Given the description of an element on the screen output the (x, y) to click on. 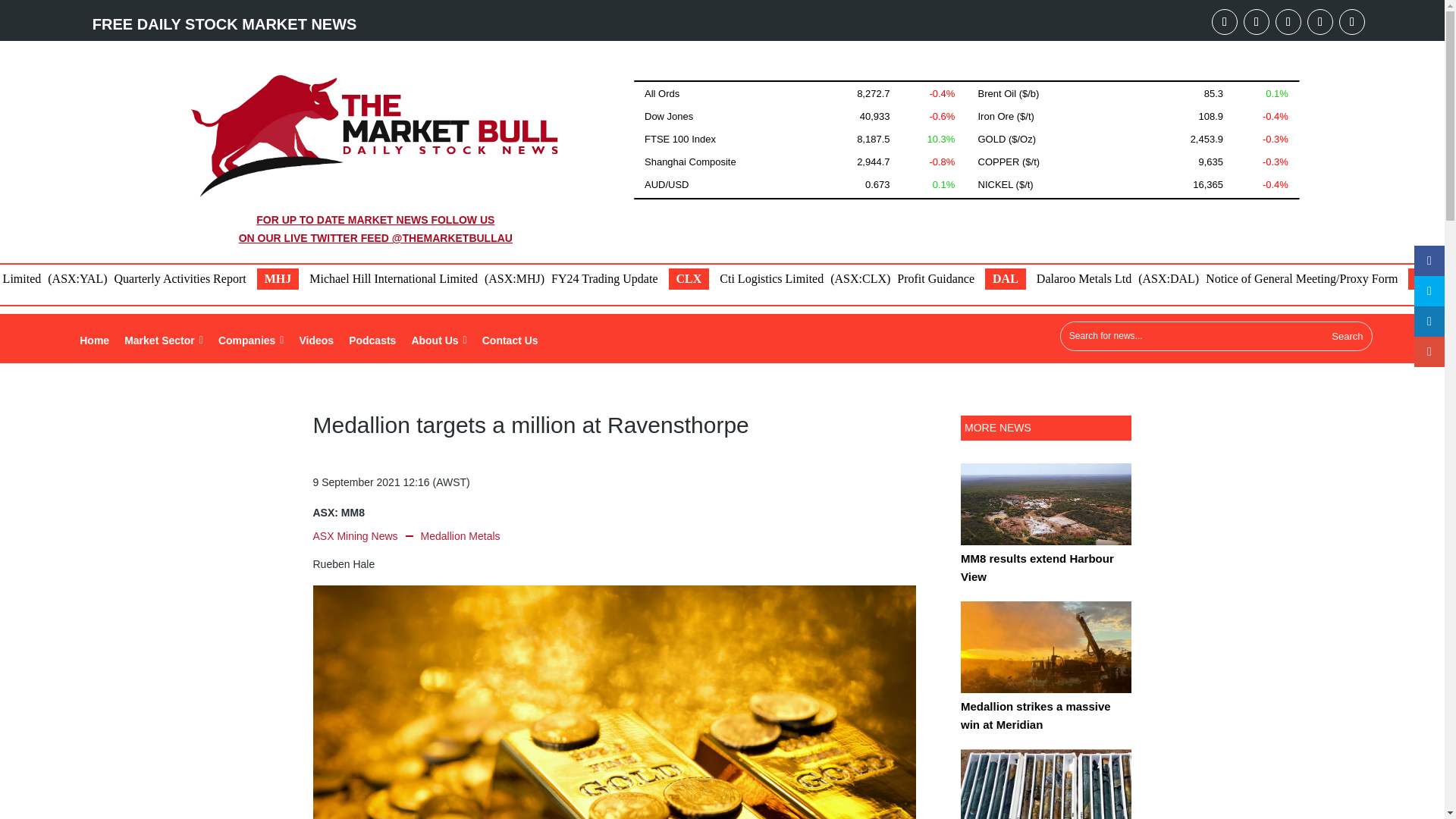
Follow on TikTok (1352, 22)
Search (1347, 336)
Search (1347, 336)
Follow on X (1288, 22)
Follow on Youtube (1224, 22)
MM8 results extend Harbour View (1045, 514)
Follow on Instagram (1320, 22)
Follow on LinkedIn (1256, 22)
